Given the description of an element on the screen output the (x, y) to click on. 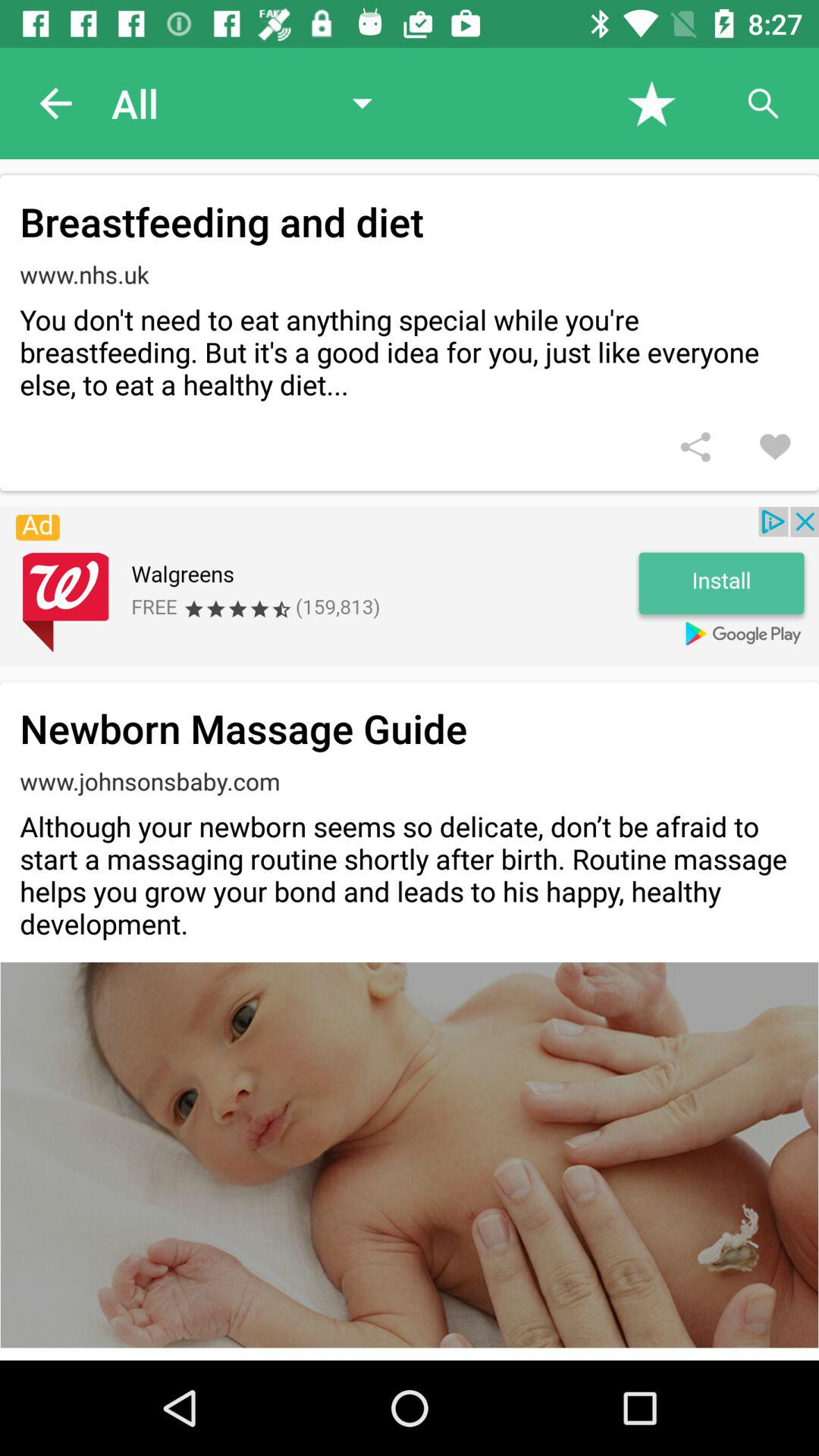
search (763, 103)
